Given the description of an element on the screen output the (x, y) to click on. 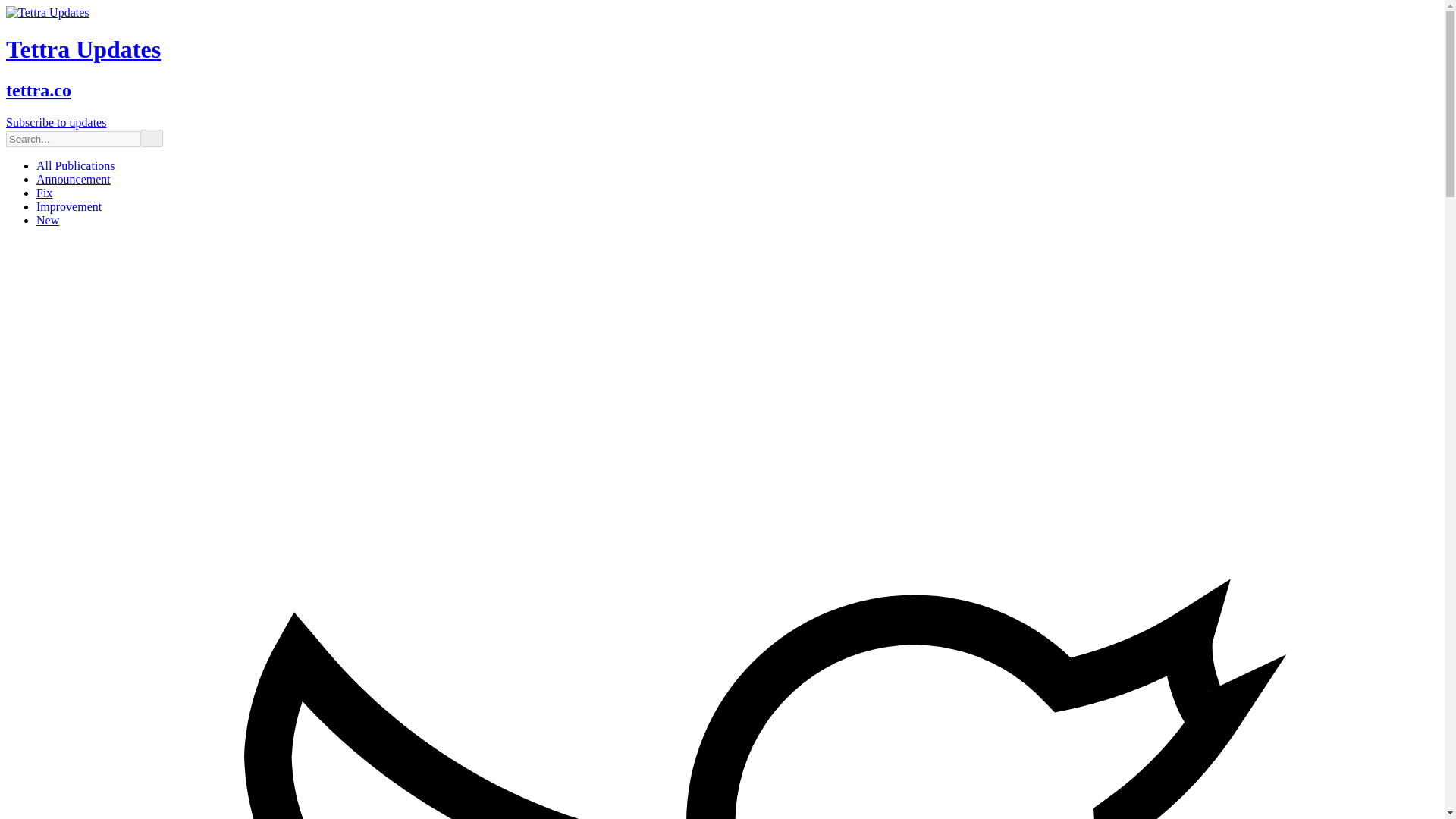
Announcement (73, 178)
Subscribe to updates (55, 122)
Fix (44, 192)
Fix (44, 192)
New (47, 219)
Search (151, 138)
Announcement (73, 178)
Improvement (68, 205)
Tettra (46, 11)
Improvement (68, 205)
All Publications (75, 164)
New (47, 219)
tettra.co (38, 89)
All Publications (75, 164)
